Given the description of an element on the screen output the (x, y) to click on. 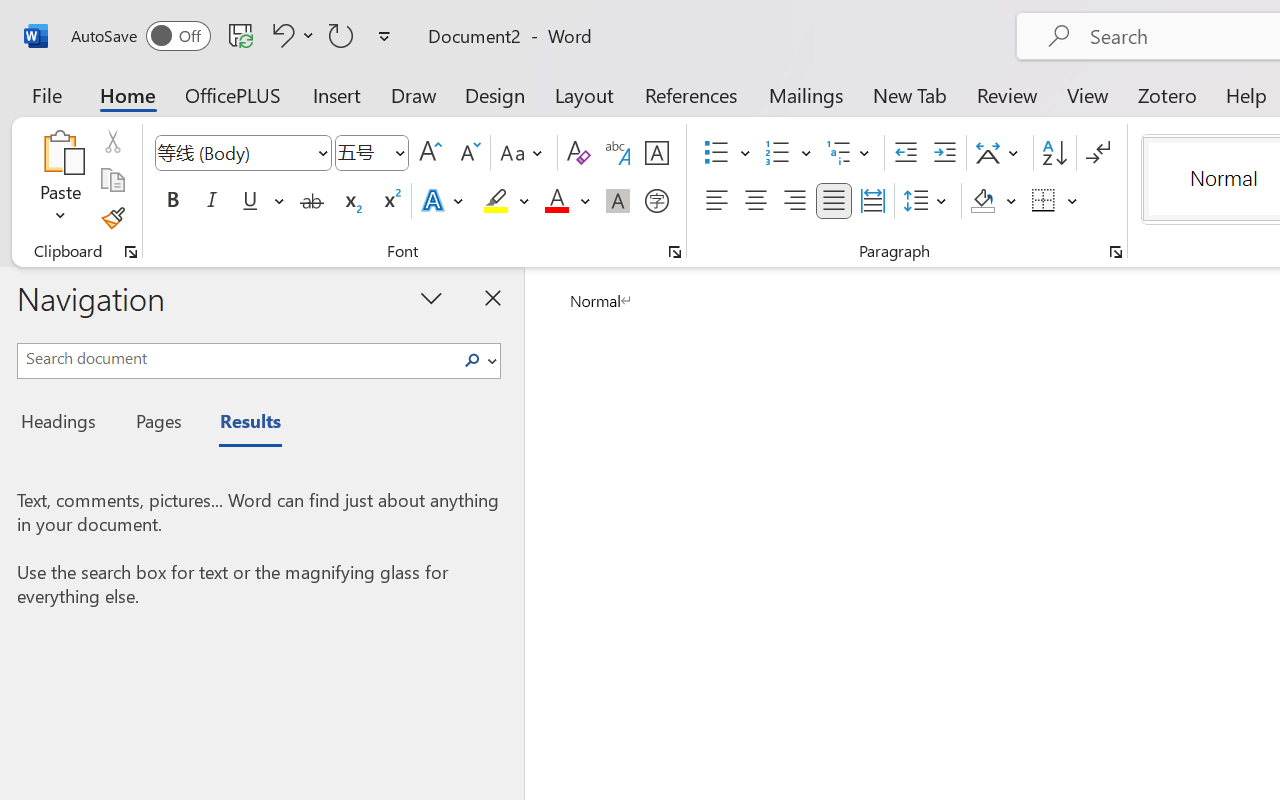
Justify (834, 201)
Search (478, 360)
Character Shading (618, 201)
Text Effects and Typography (444, 201)
Design (495, 94)
Search document (236, 358)
Pages (156, 424)
Insert (337, 94)
Copy (112, 179)
